Given the description of an element on the screen output the (x, y) to click on. 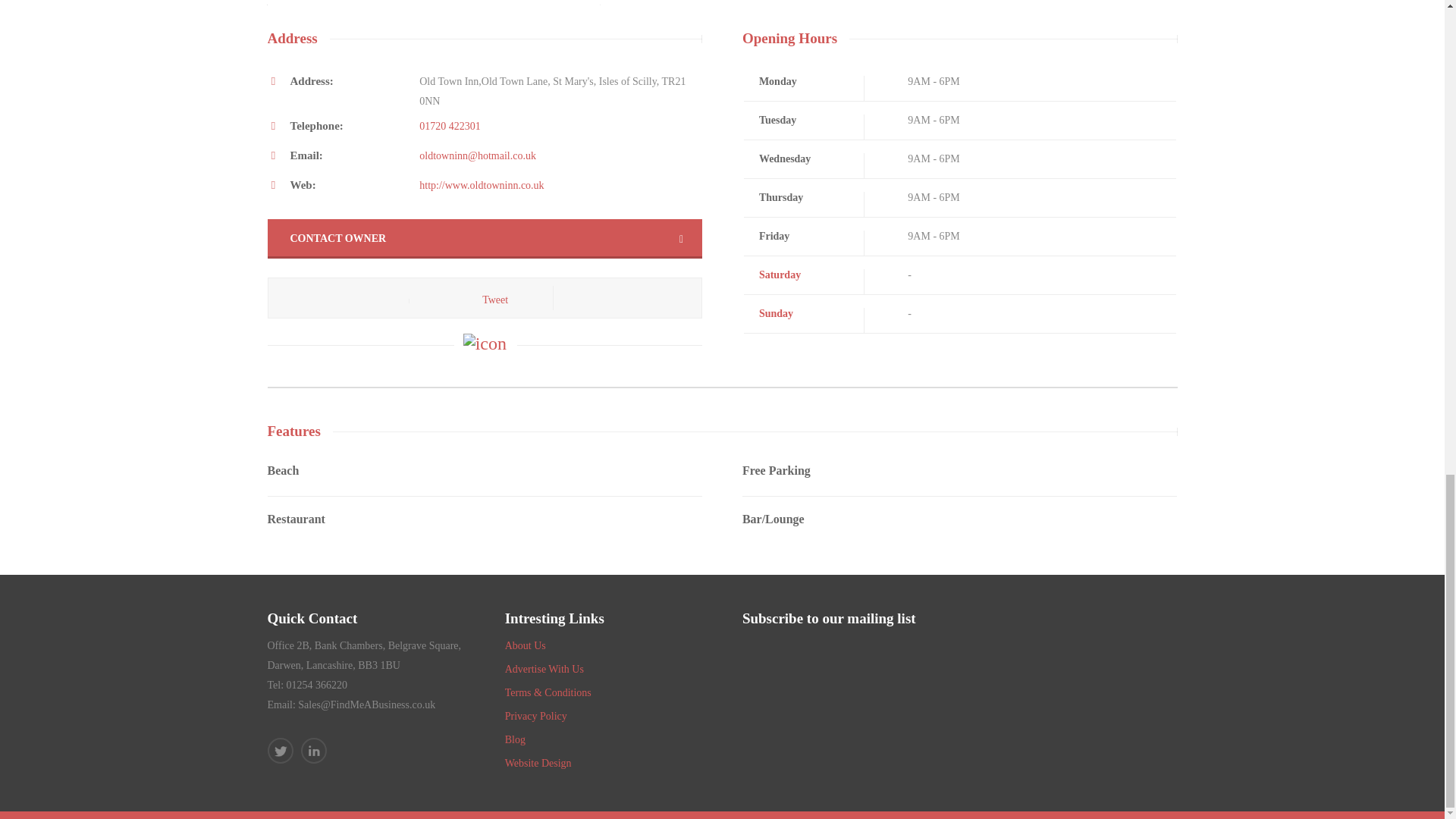
CONTACT OWNER (483, 238)
Blog (515, 739)
01720 422301 (449, 125)
About Us (525, 645)
Tweet (494, 299)
Website Design (538, 763)
Privacy Policy (536, 715)
Advertise With Us (544, 668)
